Given the description of an element on the screen output the (x, y) to click on. 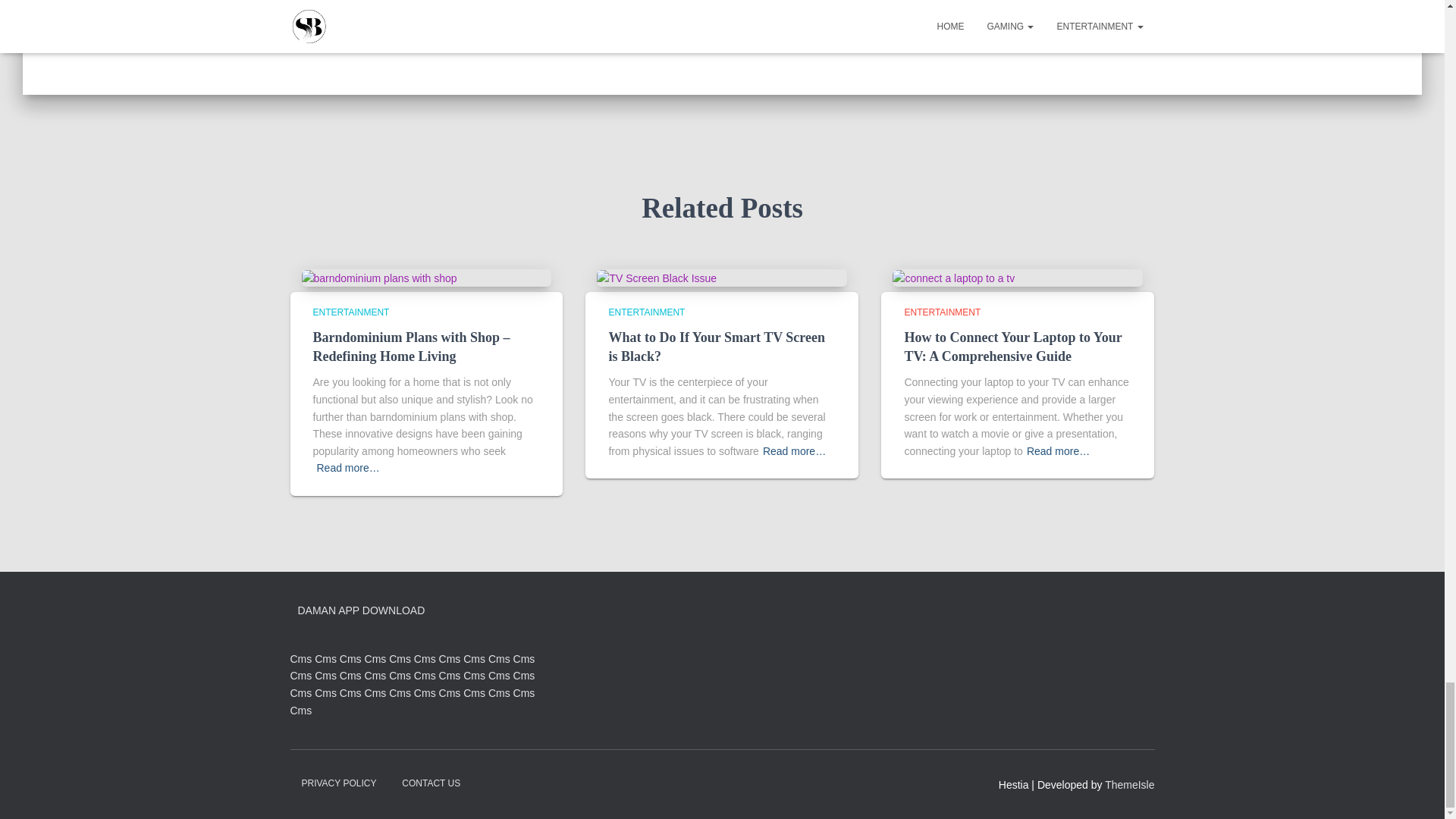
ENTERTAINMENT (941, 312)
What to Do If Your Smart TV Screen is Black? (716, 346)
ENTERTAINMENT (350, 312)
ENTERTAINMENT (646, 312)
How to Connect Your Laptop to Your TV: A Comprehensive Guide (1012, 346)
